Given the description of an element on the screen output the (x, y) to click on. 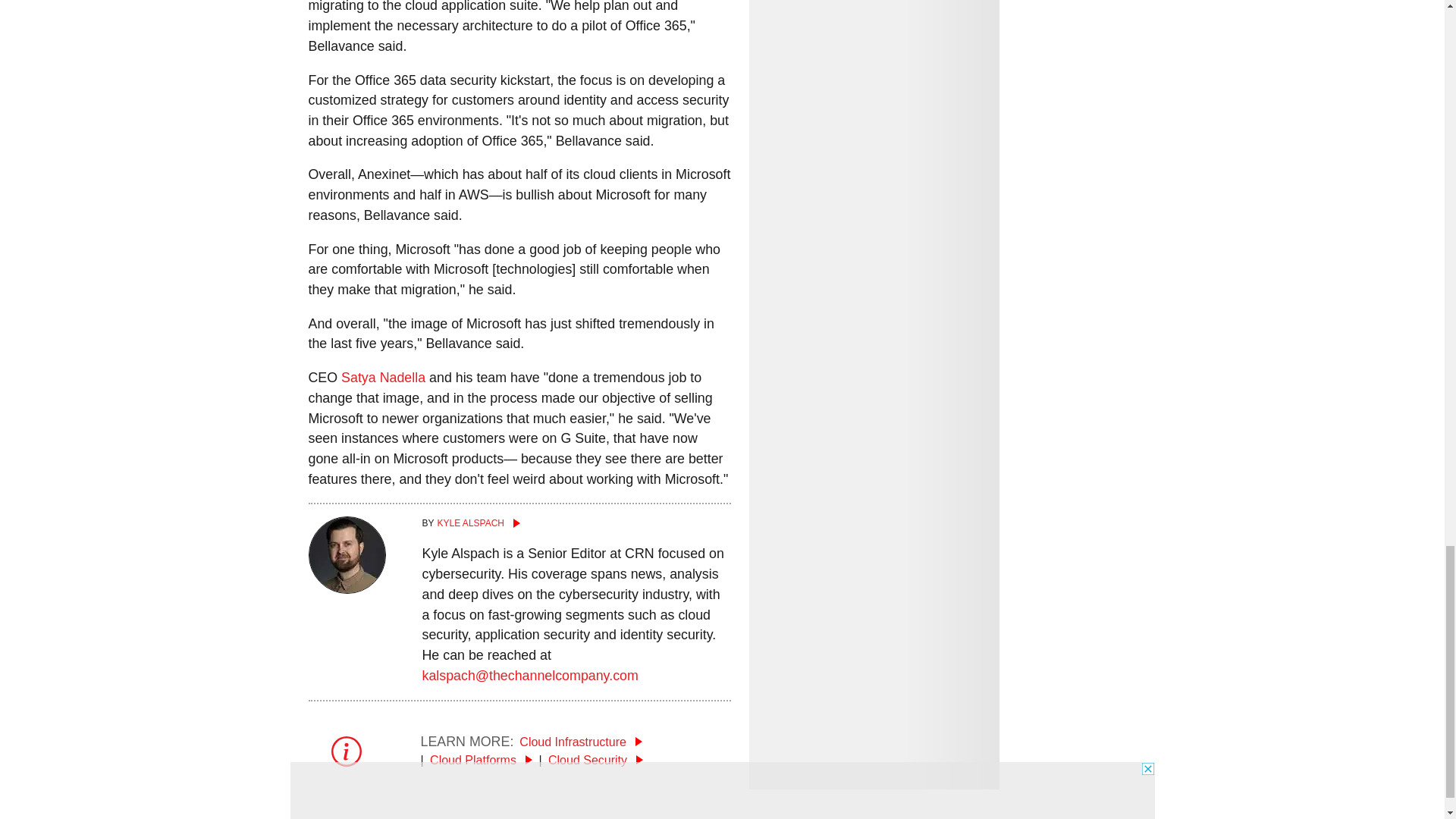
Cloud Infrastructure (580, 740)
Cloud Infrastructure (580, 740)
Kyle Alspach (346, 589)
Cloud Platforms (480, 759)
Satya Nadella (382, 377)
Cloud Security (595, 759)
Satya Nadella (382, 377)
Cloud Platforms (480, 759)
KYLE ALSPACH (576, 522)
Kyle Alspach (576, 522)
